Given the description of an element on the screen output the (x, y) to click on. 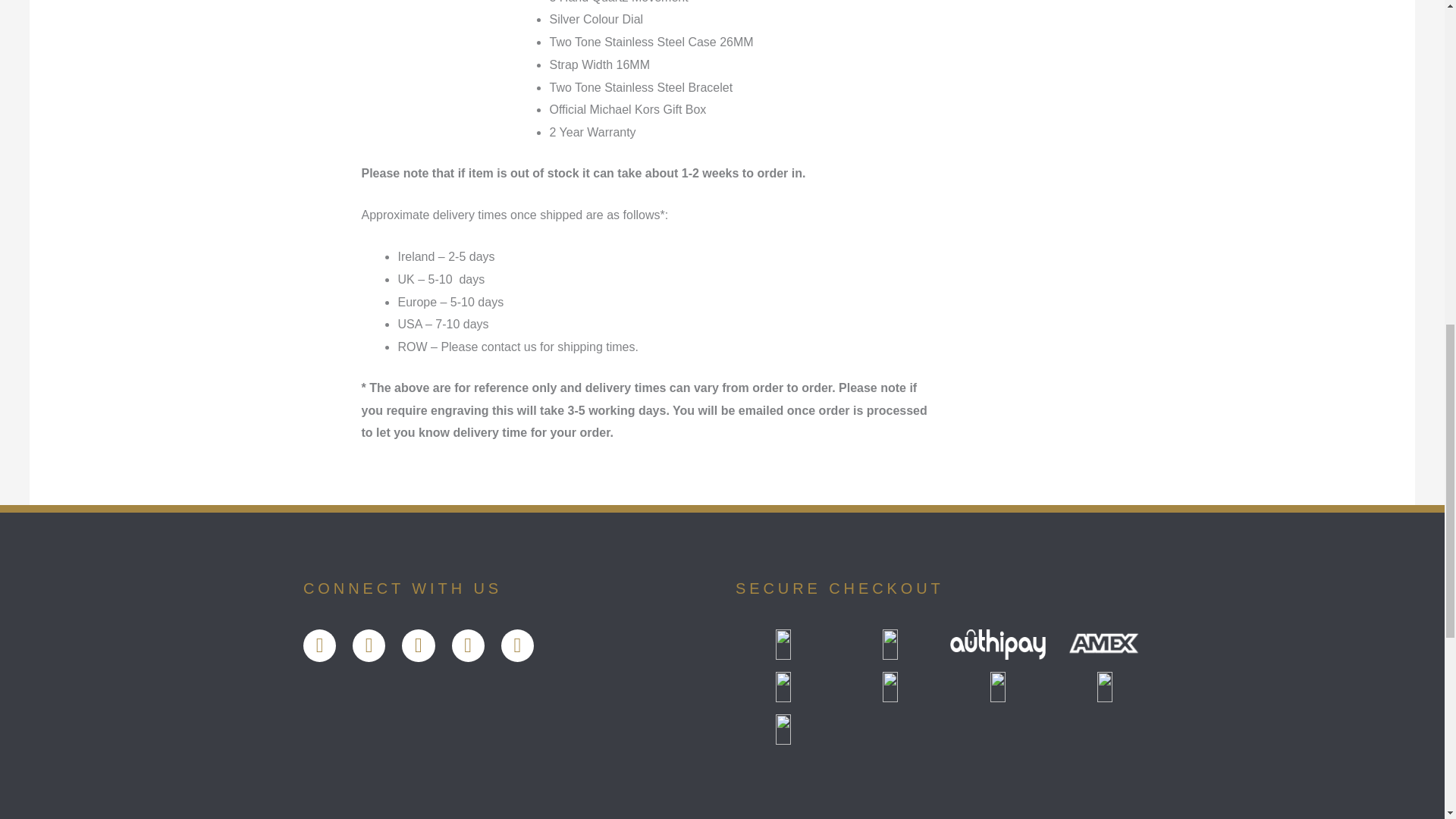
Facebook-f (319, 645)
Pinterest (517, 645)
Twitter (368, 645)
Youtube (417, 645)
Instagram (467, 645)
